Given the description of an element on the screen output the (x, y) to click on. 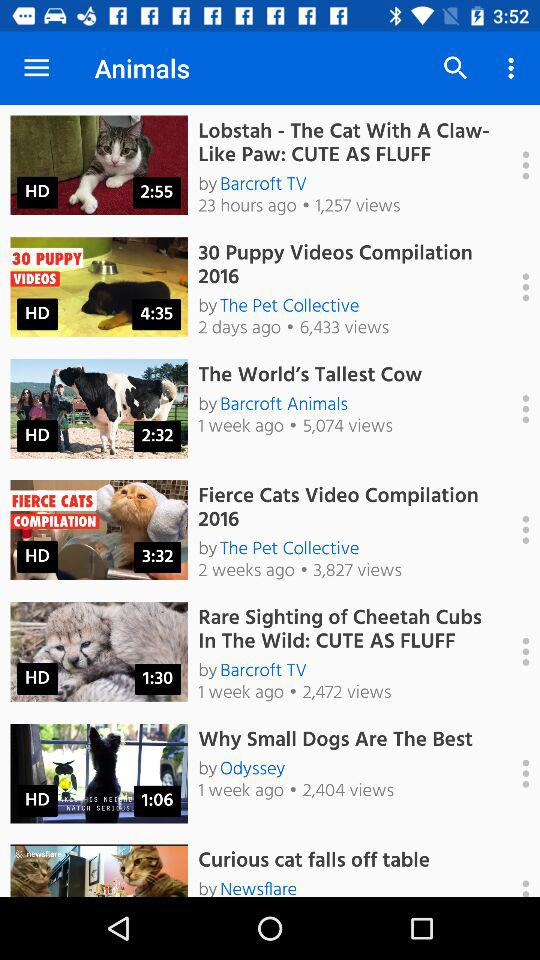
more options icon (515, 409)
